Given the description of an element on the screen output the (x, y) to click on. 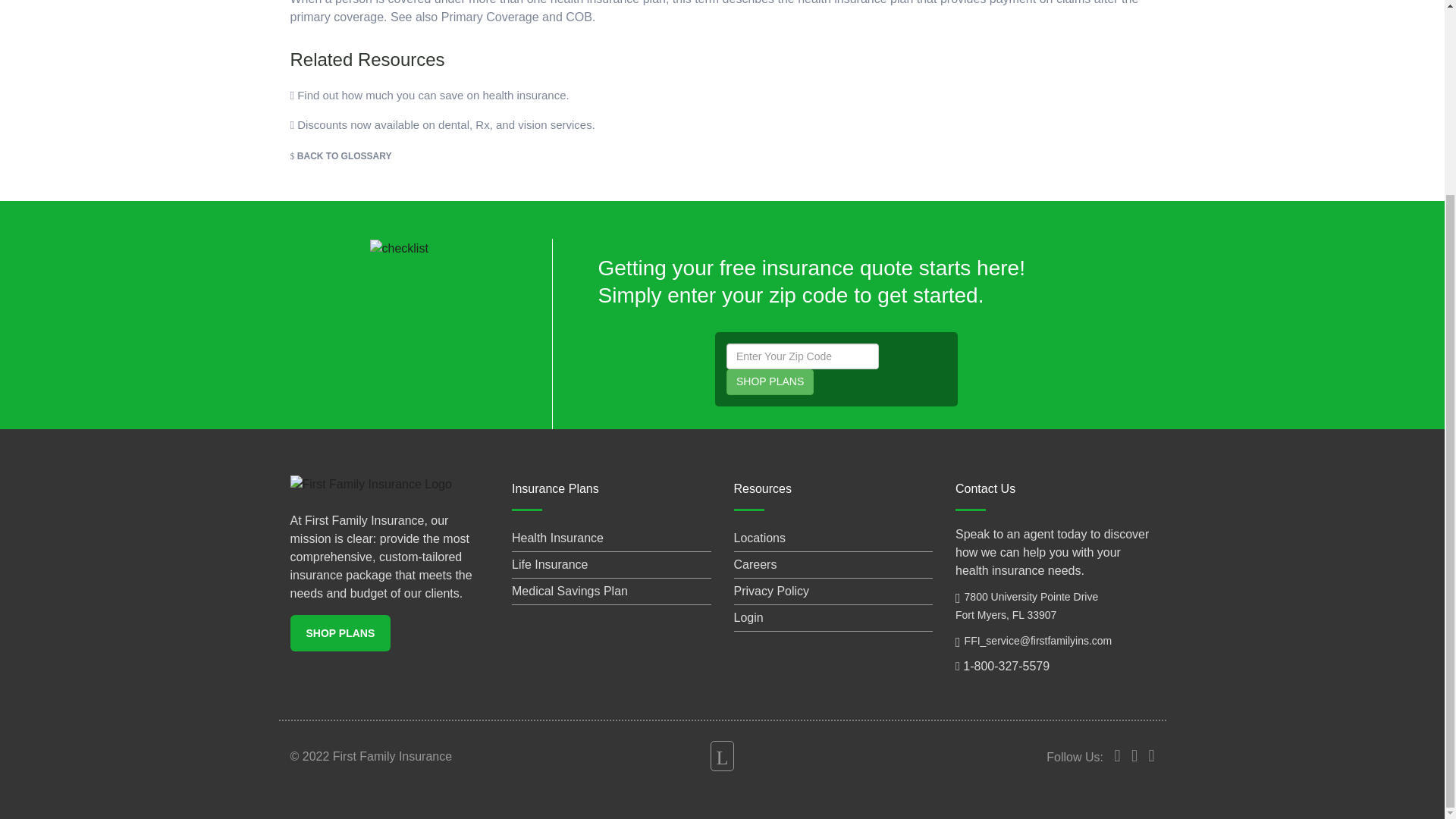
SHOP PLANS (769, 381)
Locations (759, 537)
SHOP PLANS (339, 633)
Enter Your Zip Code (802, 356)
BACK TO GLOSSARY (340, 155)
Life Insurance (550, 563)
Careers (755, 563)
Health Insurance (558, 537)
Medical Savings Plan (569, 590)
Find out how much you can save on health insurance. (429, 94)
